Given the description of an element on the screen output the (x, y) to click on. 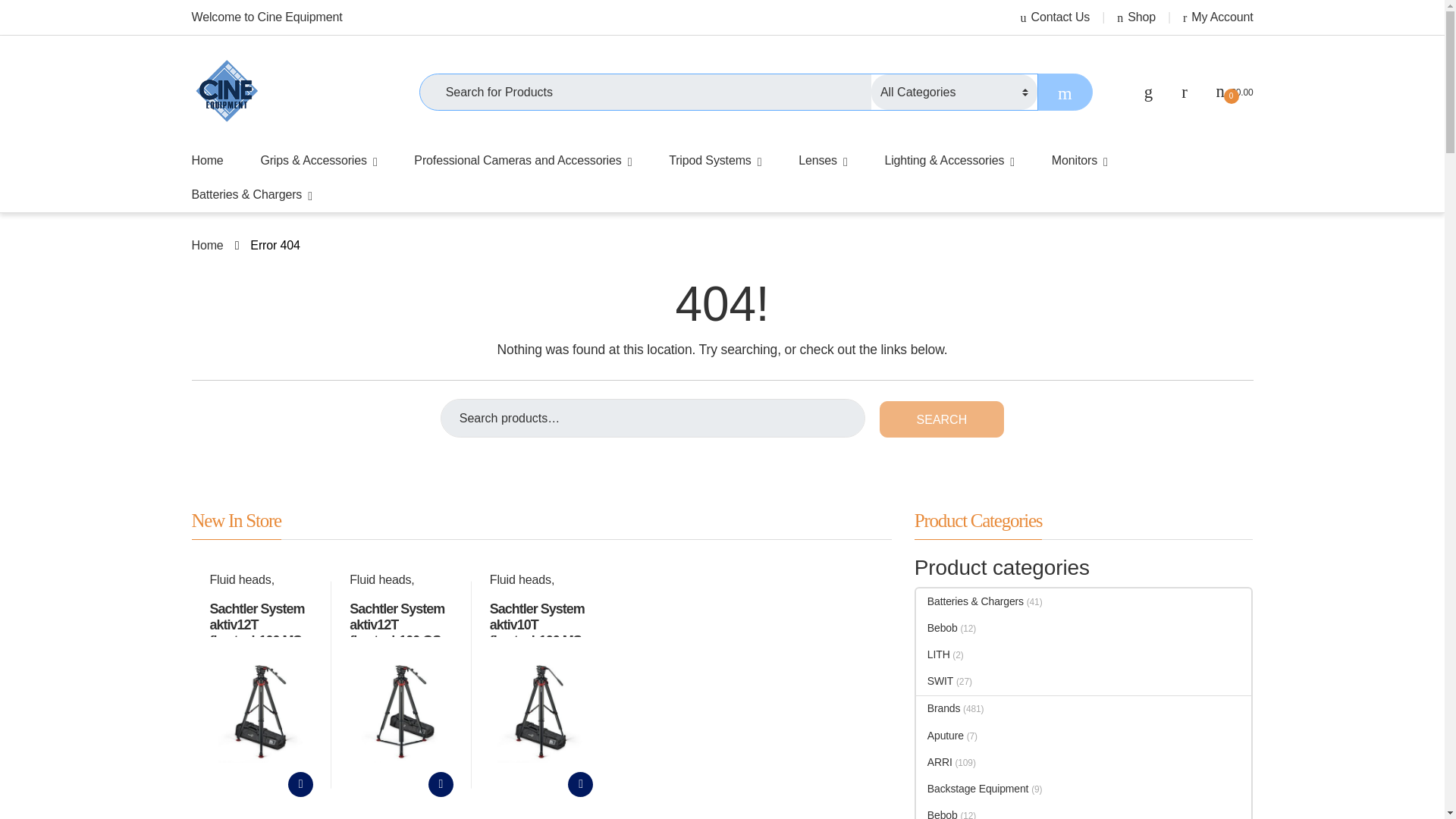
Welcome to Cine Equipment (266, 17)
Shop (1136, 17)
My Account (1217, 17)
Contact Us (1055, 17)
My Account (1217, 17)
Contact Us (1055, 17)
Welcome to Cine Equipment (266, 17)
Shop (1136, 17)
